Given the description of an element on the screen output the (x, y) to click on. 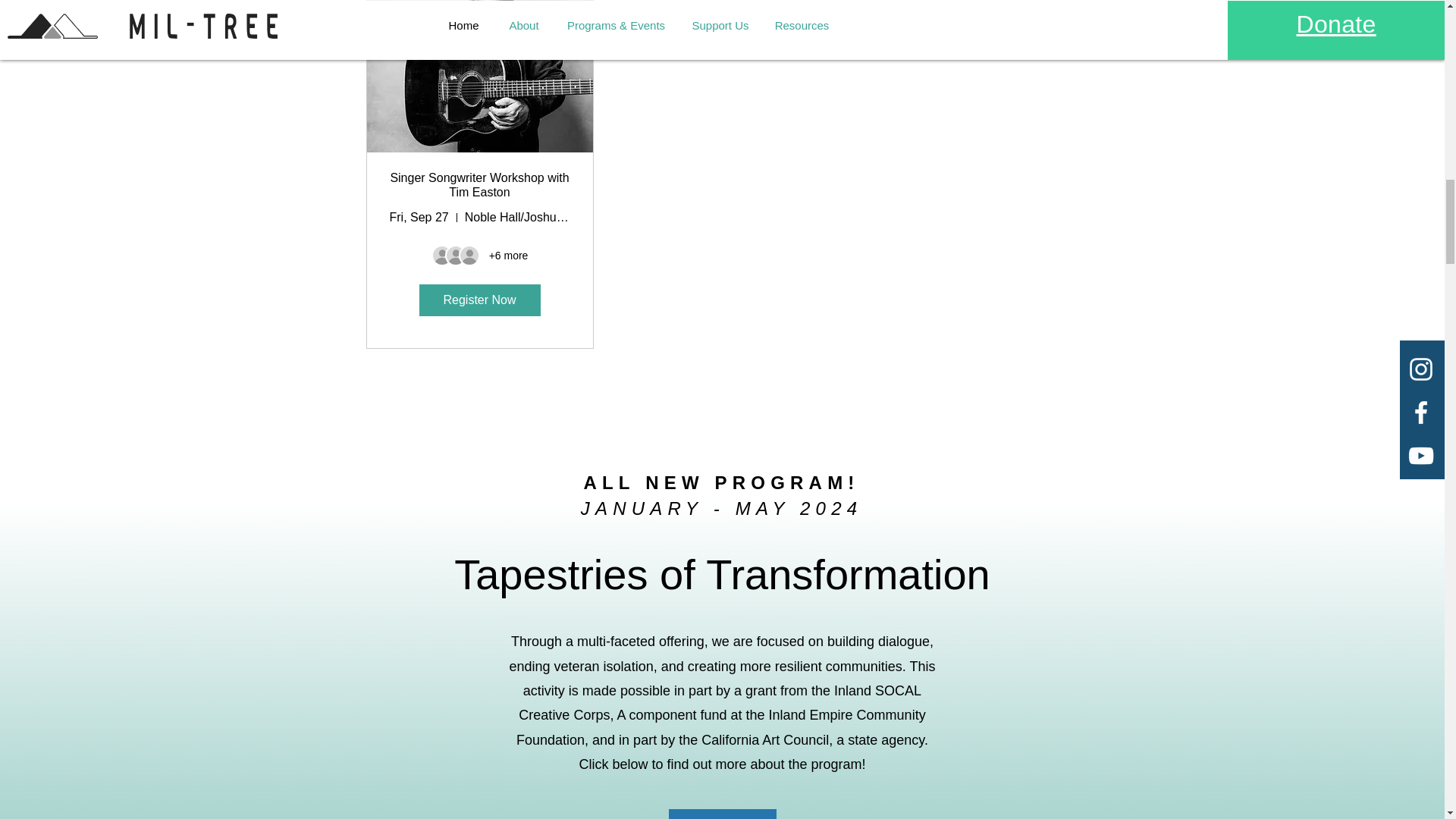
Singer Songwriter Workshop with Tim Easton (479, 185)
Learn More (722, 814)
Register Now (479, 300)
